Given the description of an element on the screen output the (x, y) to click on. 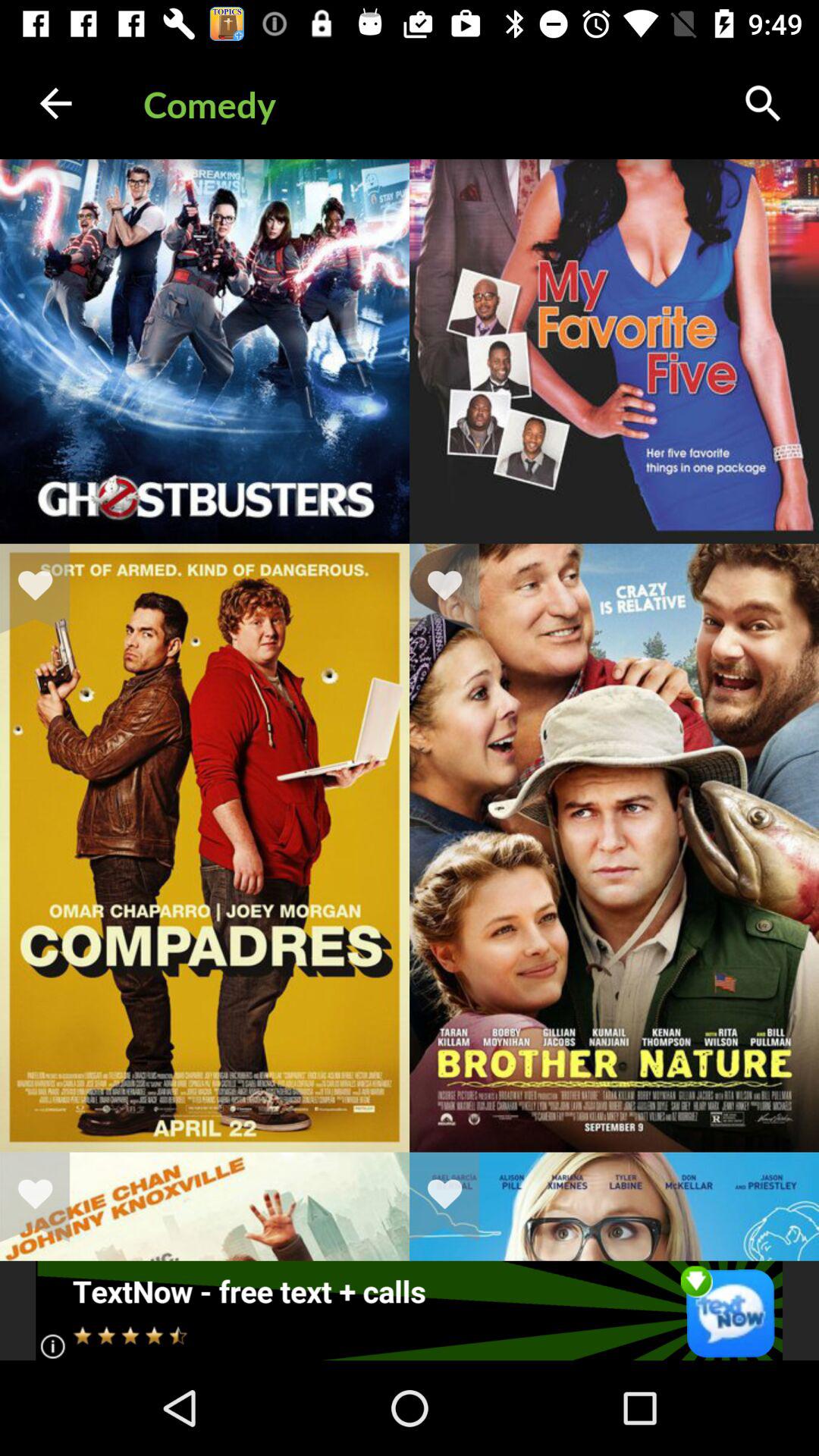
press the icon next to the comedy item (55, 103)
